Given the description of an element on the screen output the (x, y) to click on. 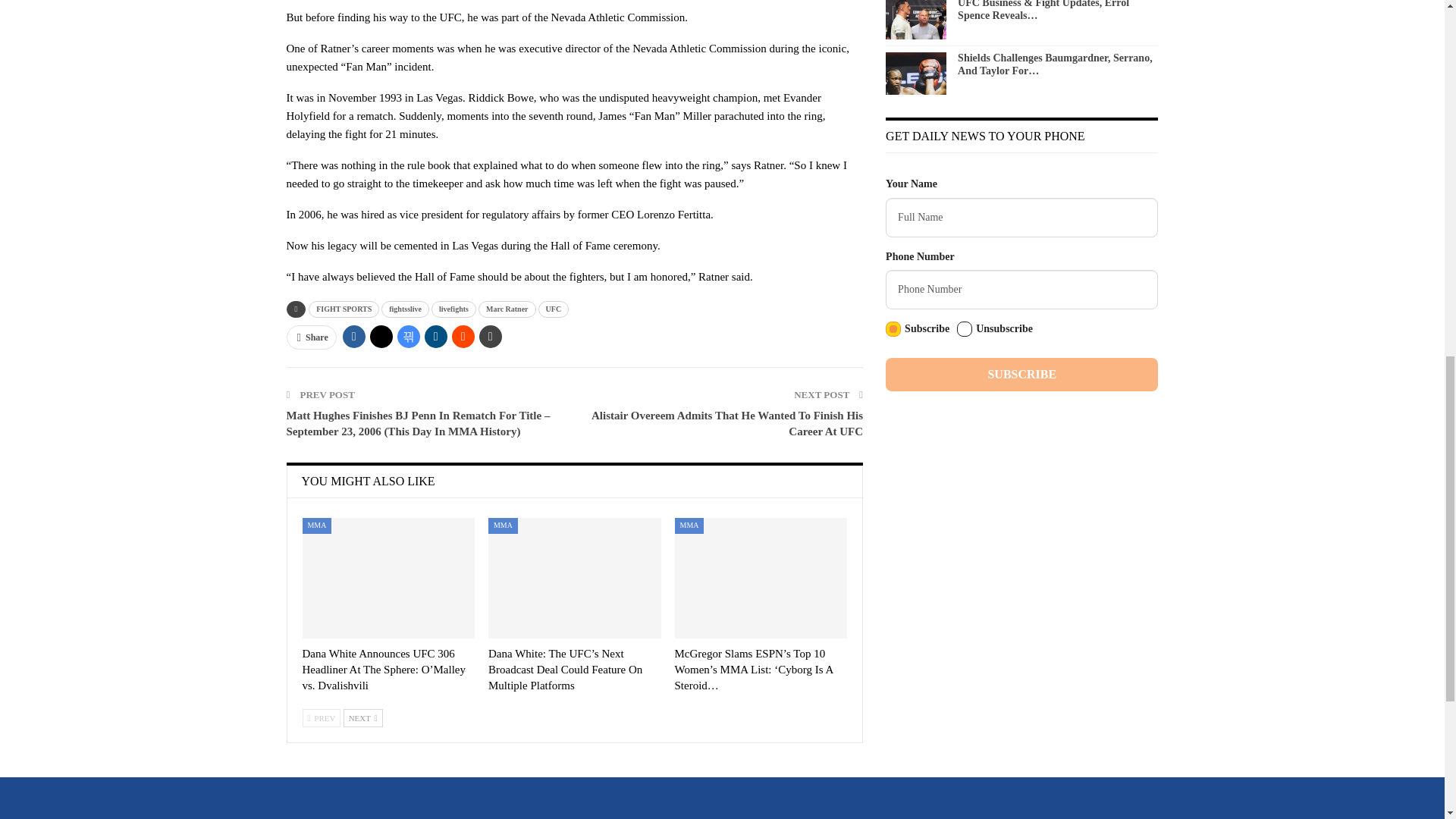
unsubscribe (964, 328)
subscribe (893, 328)
